Given the description of an element on the screen output the (x, y) to click on. 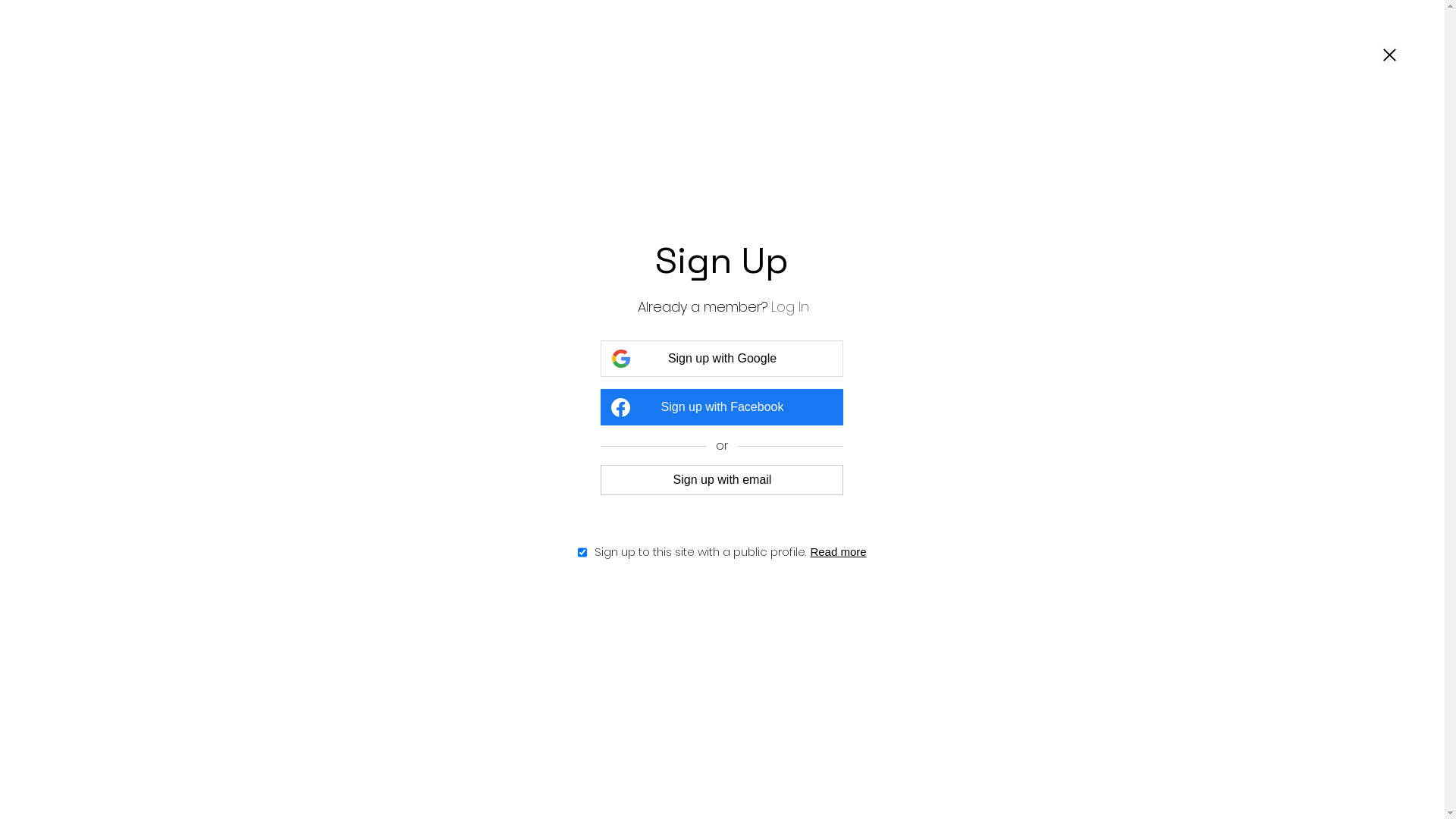
Sign up with Google Element type: text (721, 358)
Sign up with Facebook Element type: text (721, 407)
Log In Element type: text (790, 306)
Read more Element type: text (837, 551)
Sign up with email Element type: text (721, 479)
